Given the description of an element on the screen output the (x, y) to click on. 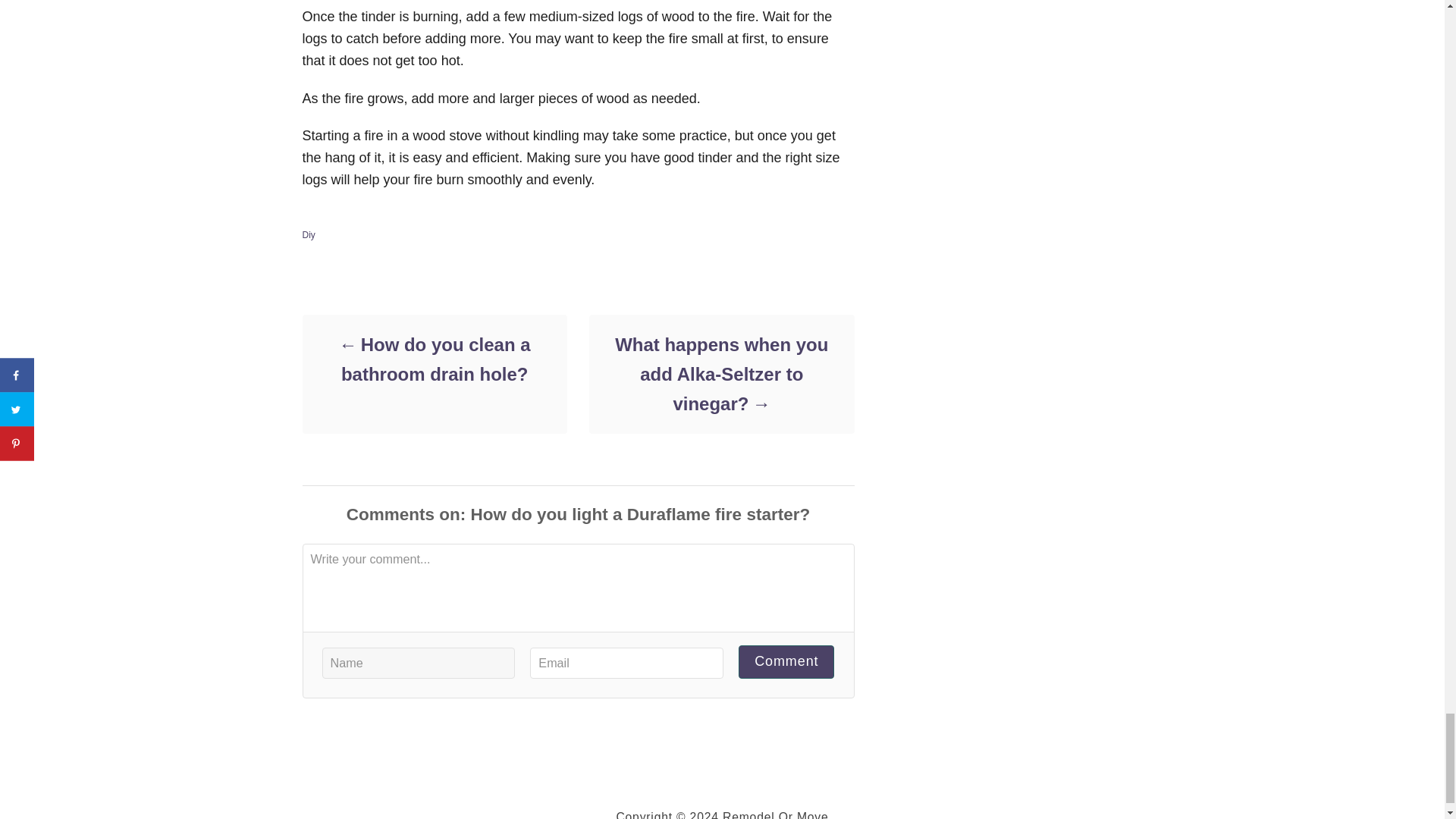
How do you clean a bathroom drain hole? (434, 359)
What happens when you add Alka-Seltzer to vinegar? (721, 374)
Comment (786, 661)
Diy (307, 235)
